Given the description of an element on the screen output the (x, y) to click on. 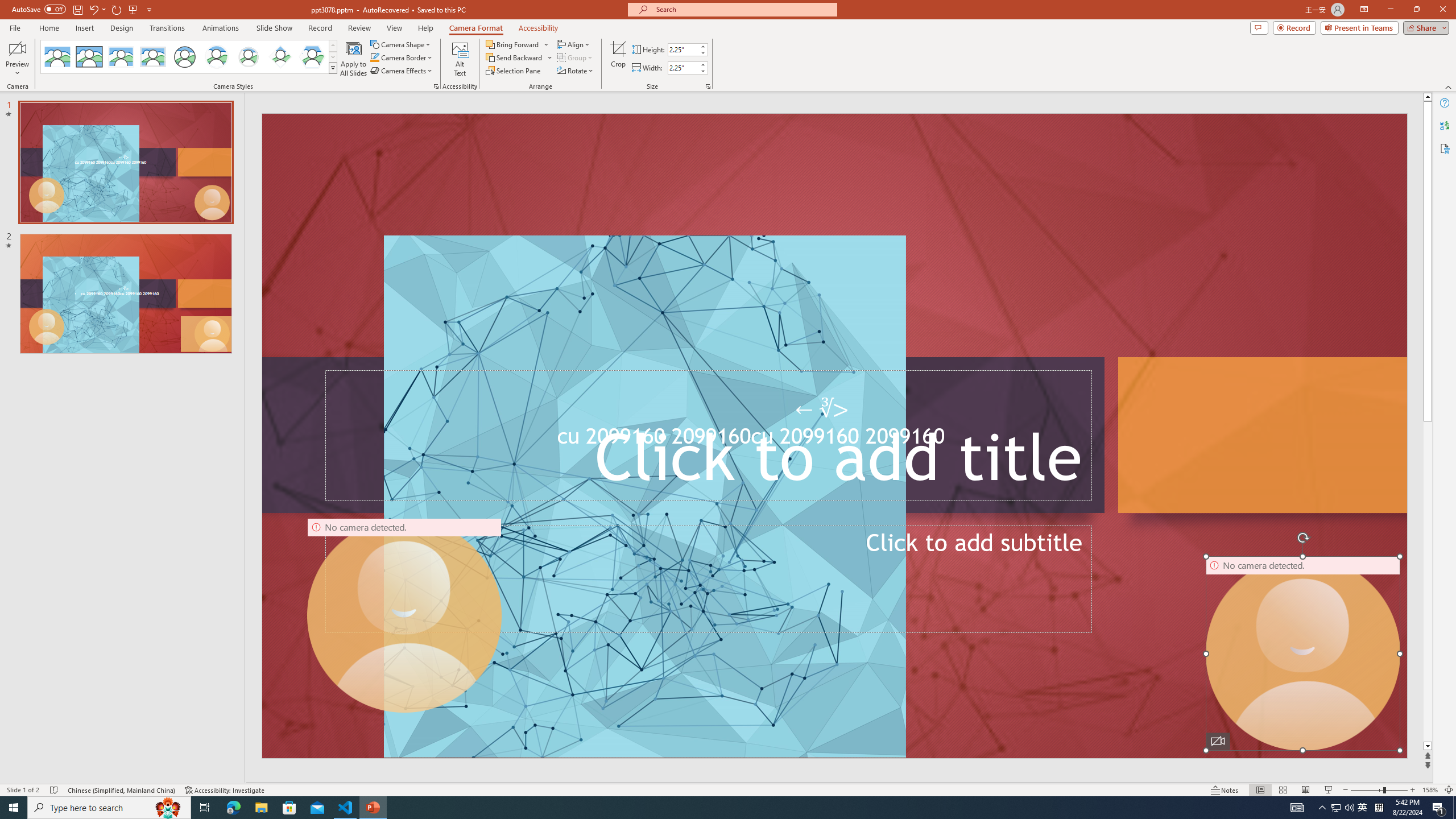
Soft Edge Circle (248, 56)
